Given the description of an element on the screen output the (x, y) to click on. 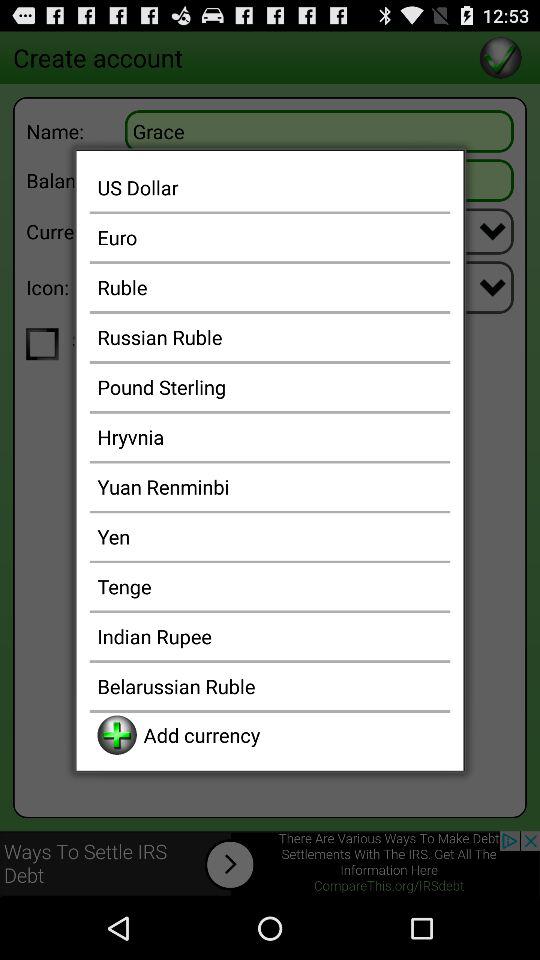
choose the icon above yen (269, 486)
